Given the description of an element on the screen output the (x, y) to click on. 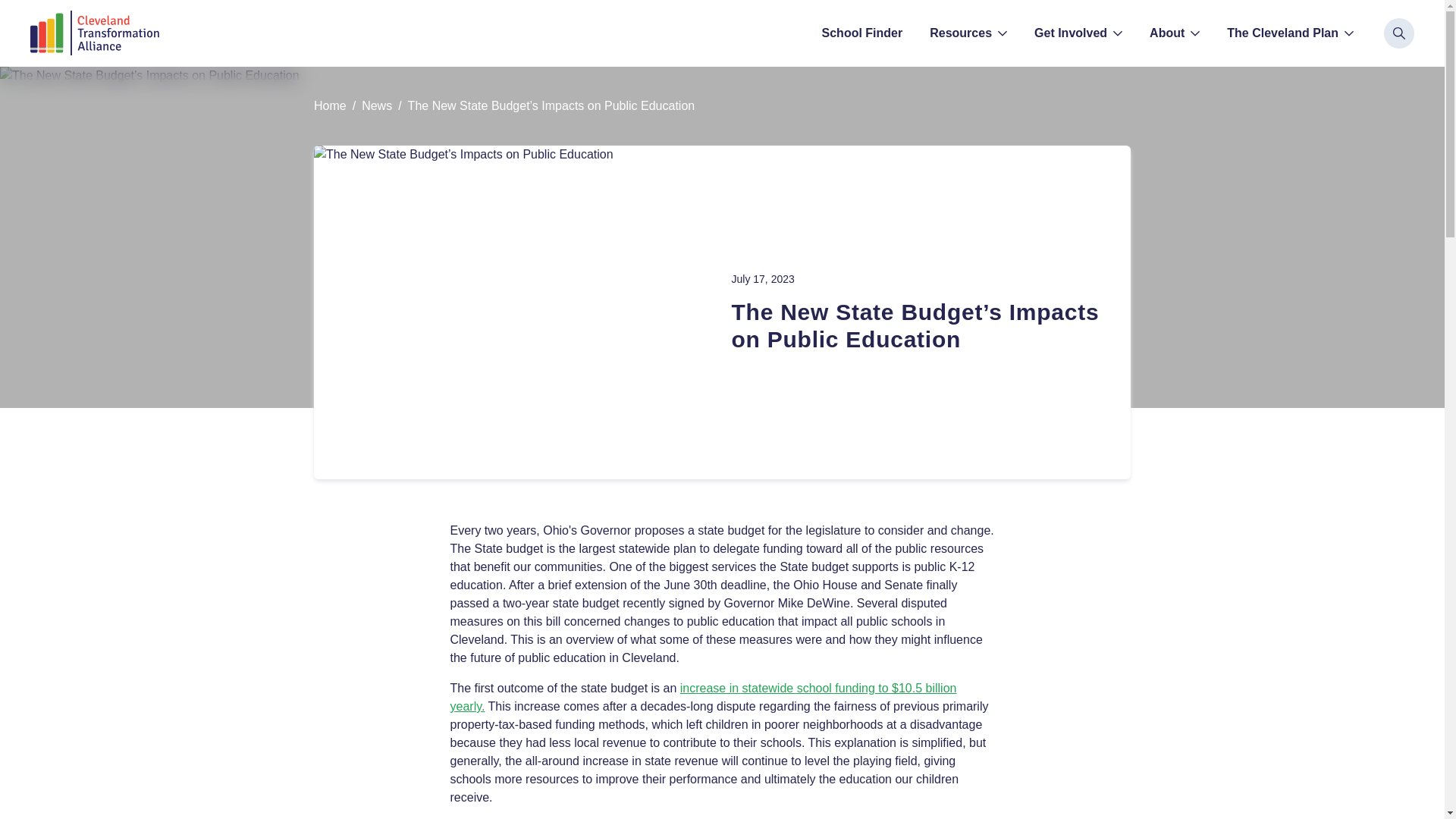
Open Search (1398, 33)
School Finder (862, 33)
Cleveland Transformation Alliance (94, 33)
Resources (968, 33)
Home (330, 106)
Get Involved (1078, 33)
About (1174, 33)
News (376, 106)
The Cleveland Plan (1289, 33)
